Given the description of an element on the screen output the (x, y) to click on. 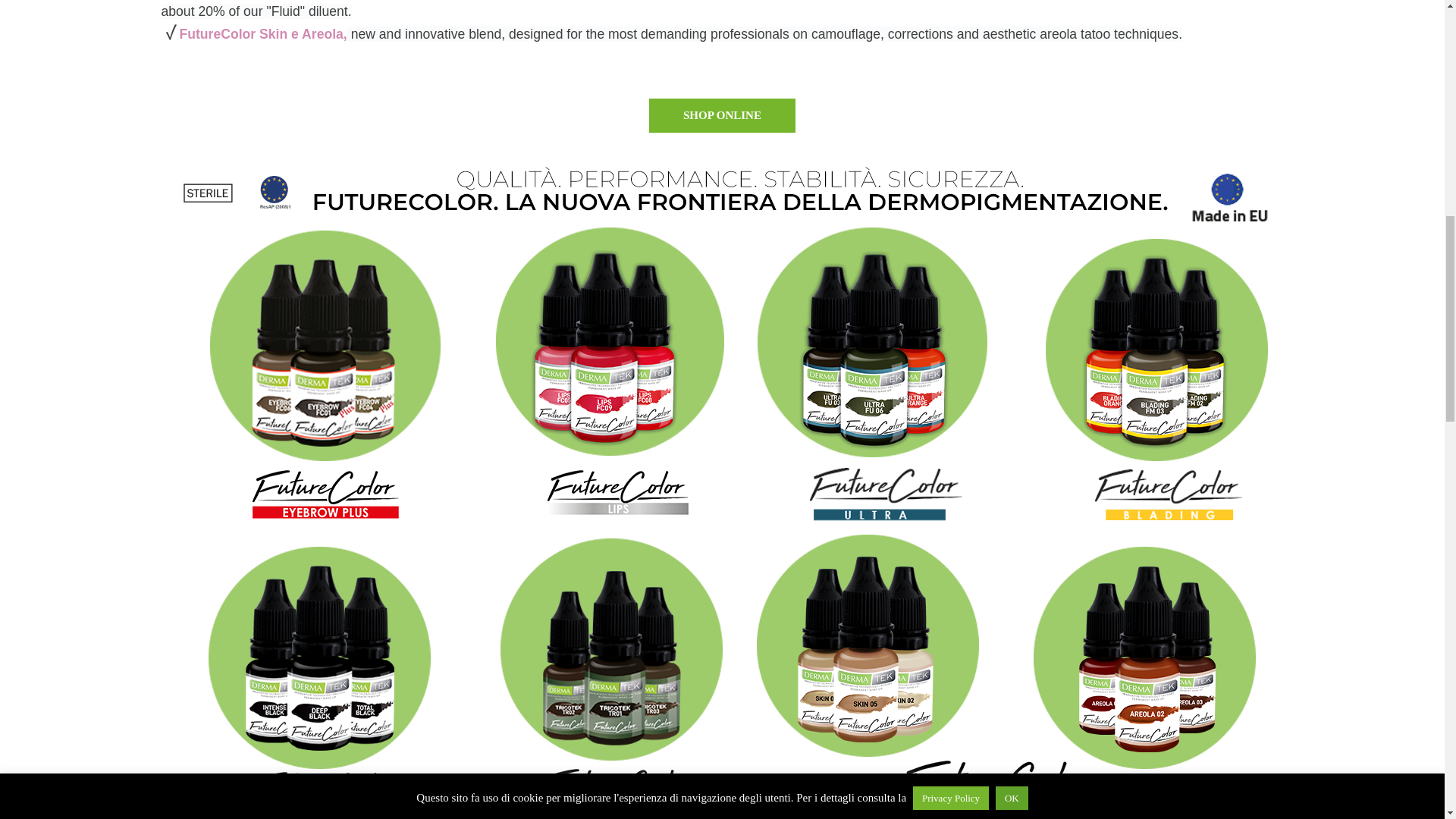
SHOP ONLINE (721, 115)
